Given the description of an element on the screen output the (x, y) to click on. 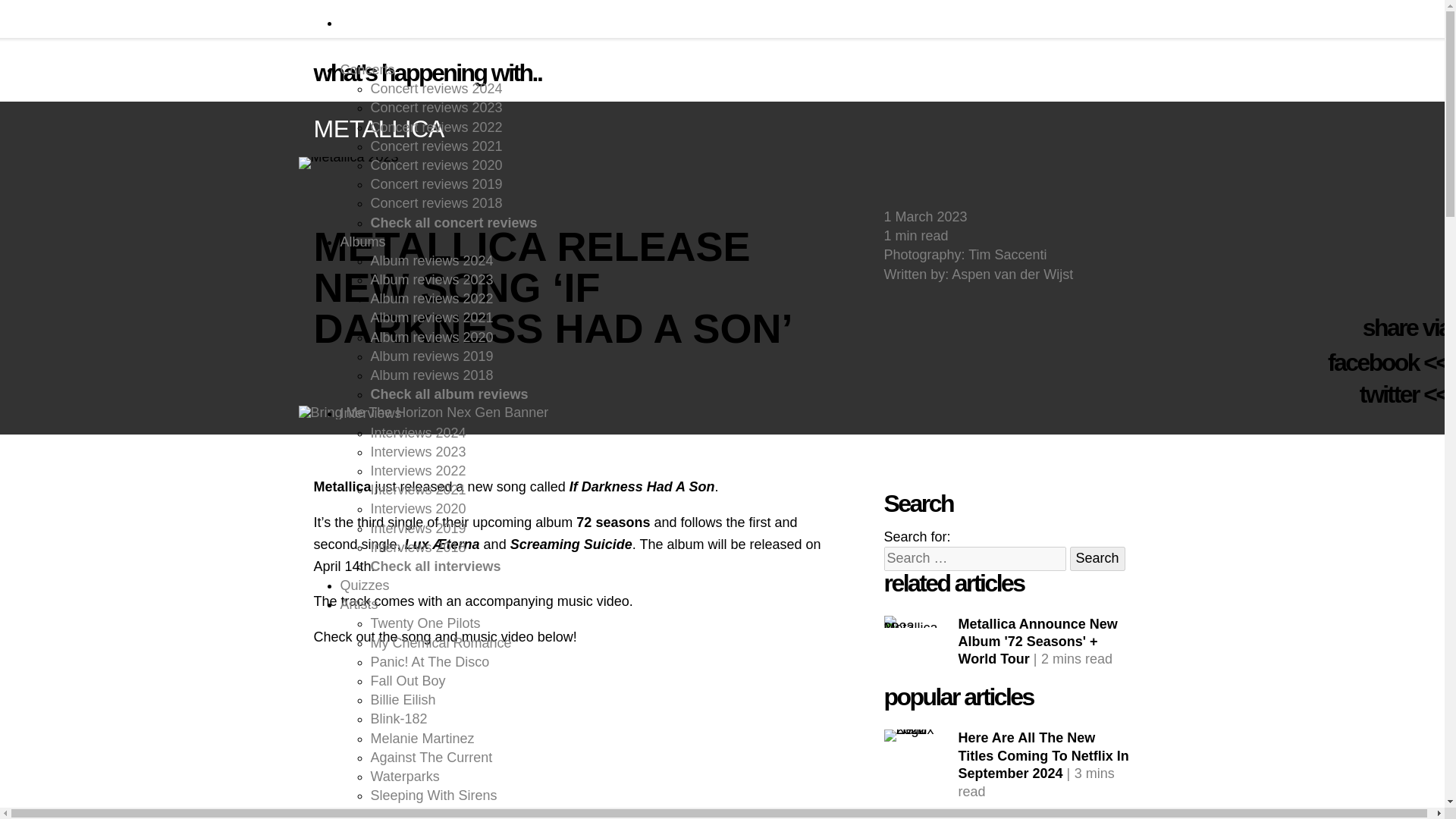
Concert reviews 2021 (435, 145)
Tweet (1388, 393)
Quizzes (363, 585)
Album reviews 2019 (431, 355)
Interviews 2021 (417, 489)
Interviews 2024 (417, 432)
Concert reviews 2022 (435, 127)
Interviews 2022 (417, 470)
Album reviews 2018 (431, 375)
Concerts (366, 69)
